Given the description of an element on the screen output the (x, y) to click on. 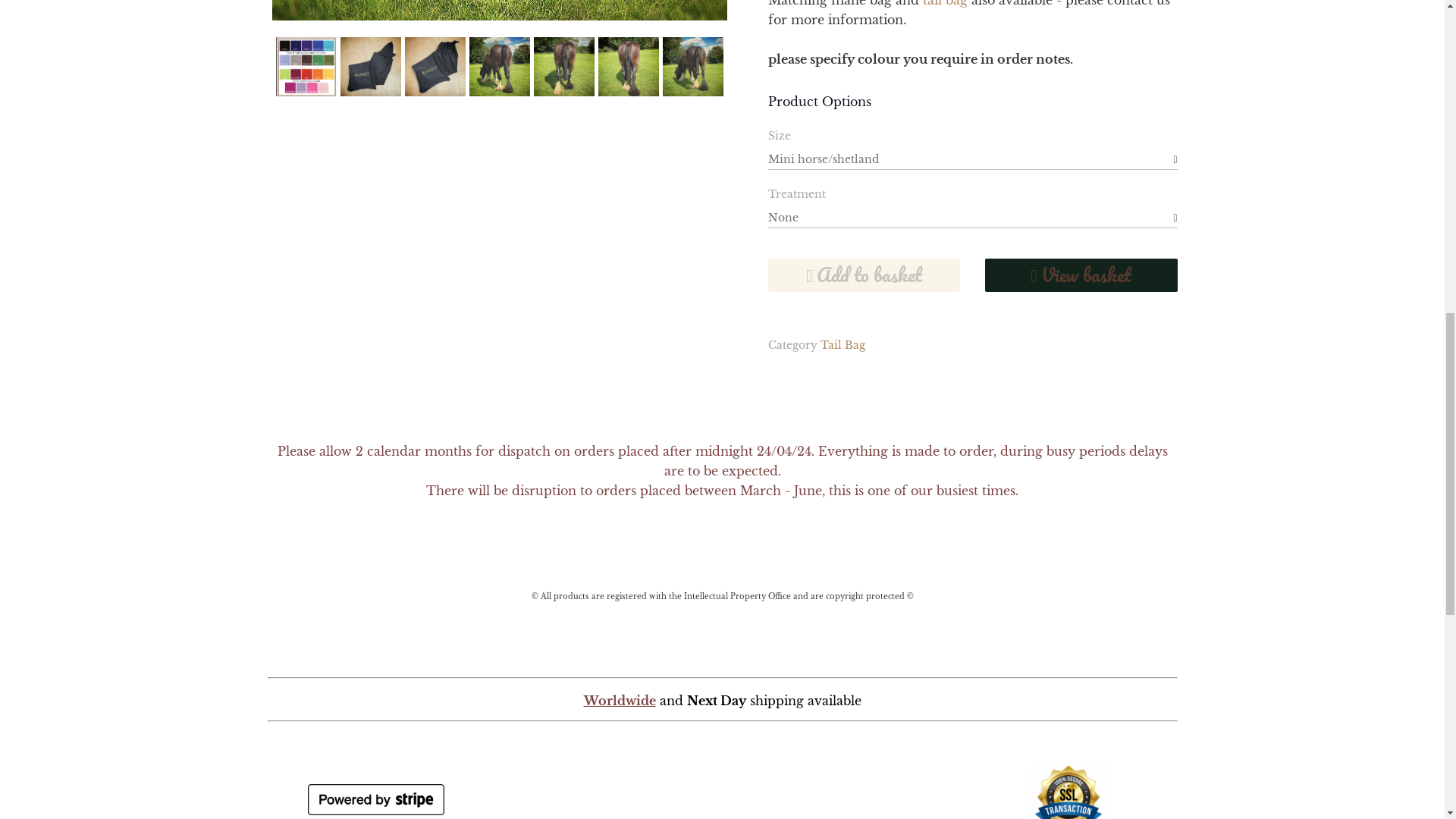
Worldwide (721, 692)
View basket (1081, 274)
Lycra Tail Bag - Black (498, 10)
Add to basket (863, 274)
Tail Bag (842, 345)
tail bag (943, 3)
